Given the description of an element on the screen output the (x, y) to click on. 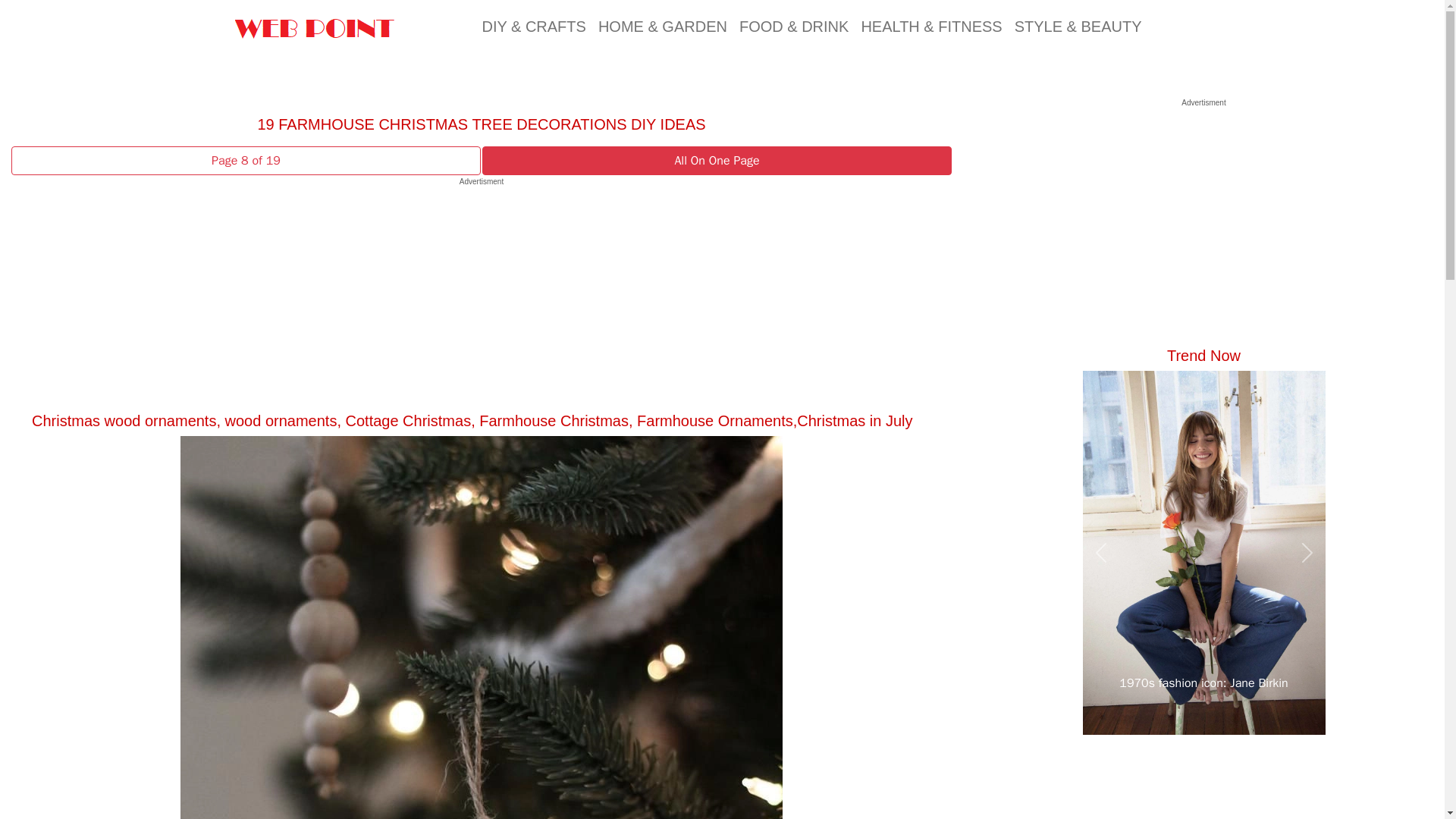
All On One Page (716, 160)
1970s fashion icon: Jane Birkin (1203, 683)
Web Point (313, 26)
